Given the description of an element on the screen output the (x, y) to click on. 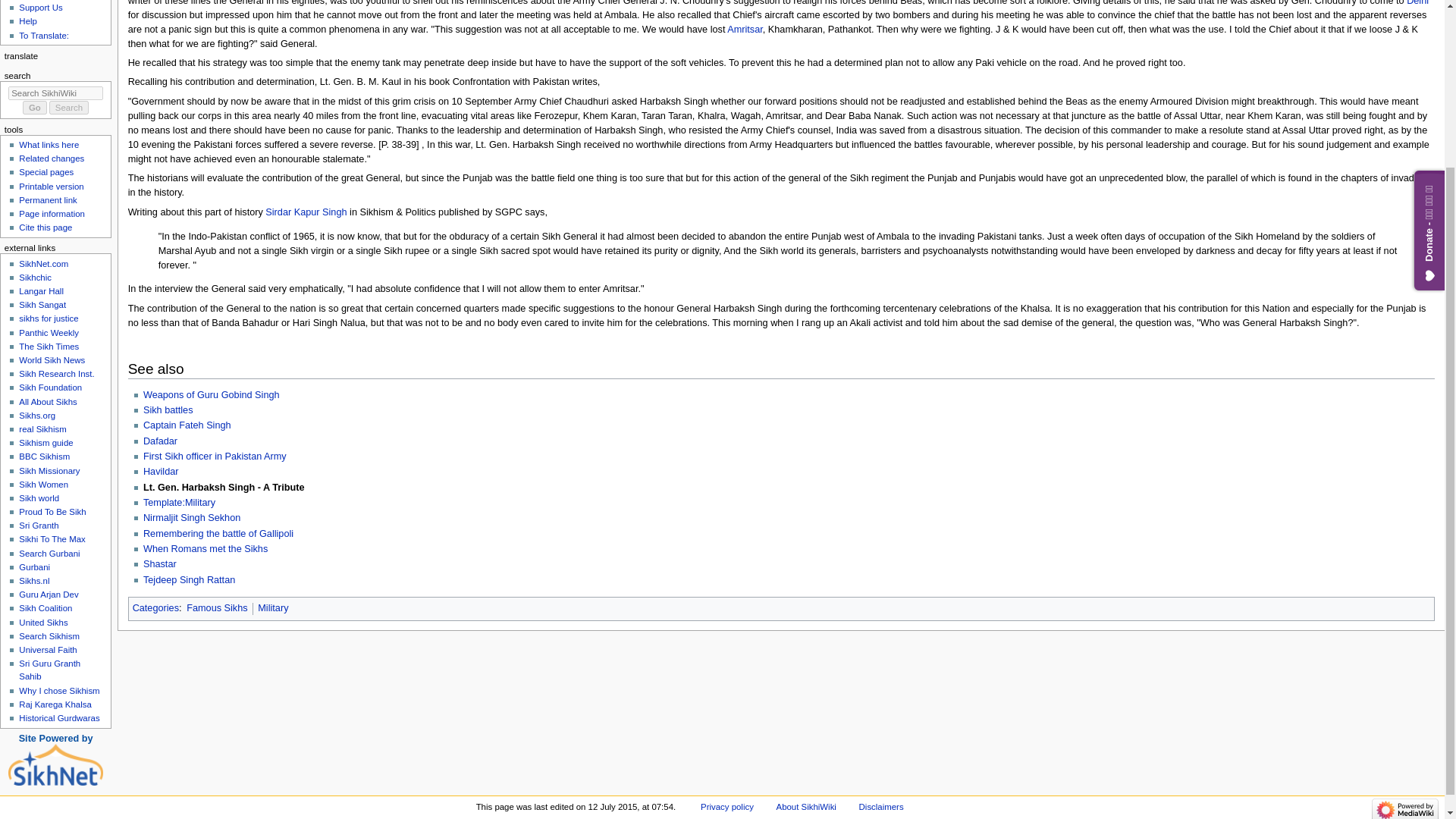
Captain Fateh Singh (186, 425)
Go (34, 107)
Delhi (1417, 2)
First Sikh officer in Pakistan Army (214, 456)
Remembering the battle of Gallipoli (218, 533)
Dafadar (159, 440)
Weapons of Guru Gobind Singh (210, 394)
Shastar (159, 563)
Nirmaljit Singh Sekhon (191, 517)
Havildar (160, 471)
